Given the description of an element on the screen output the (x, y) to click on. 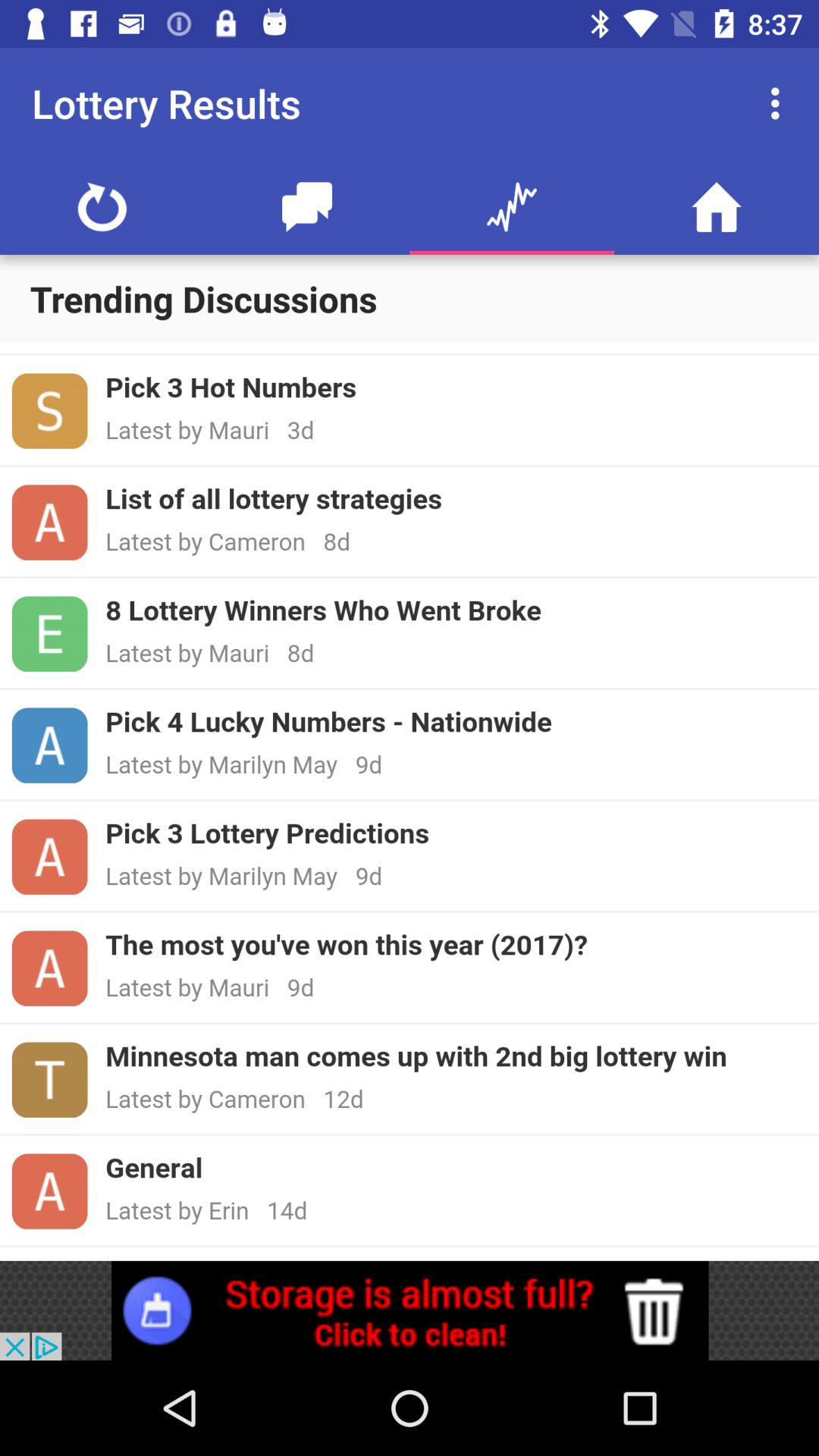
click advertisement (409, 1310)
